Given the description of an element on the screen output the (x, y) to click on. 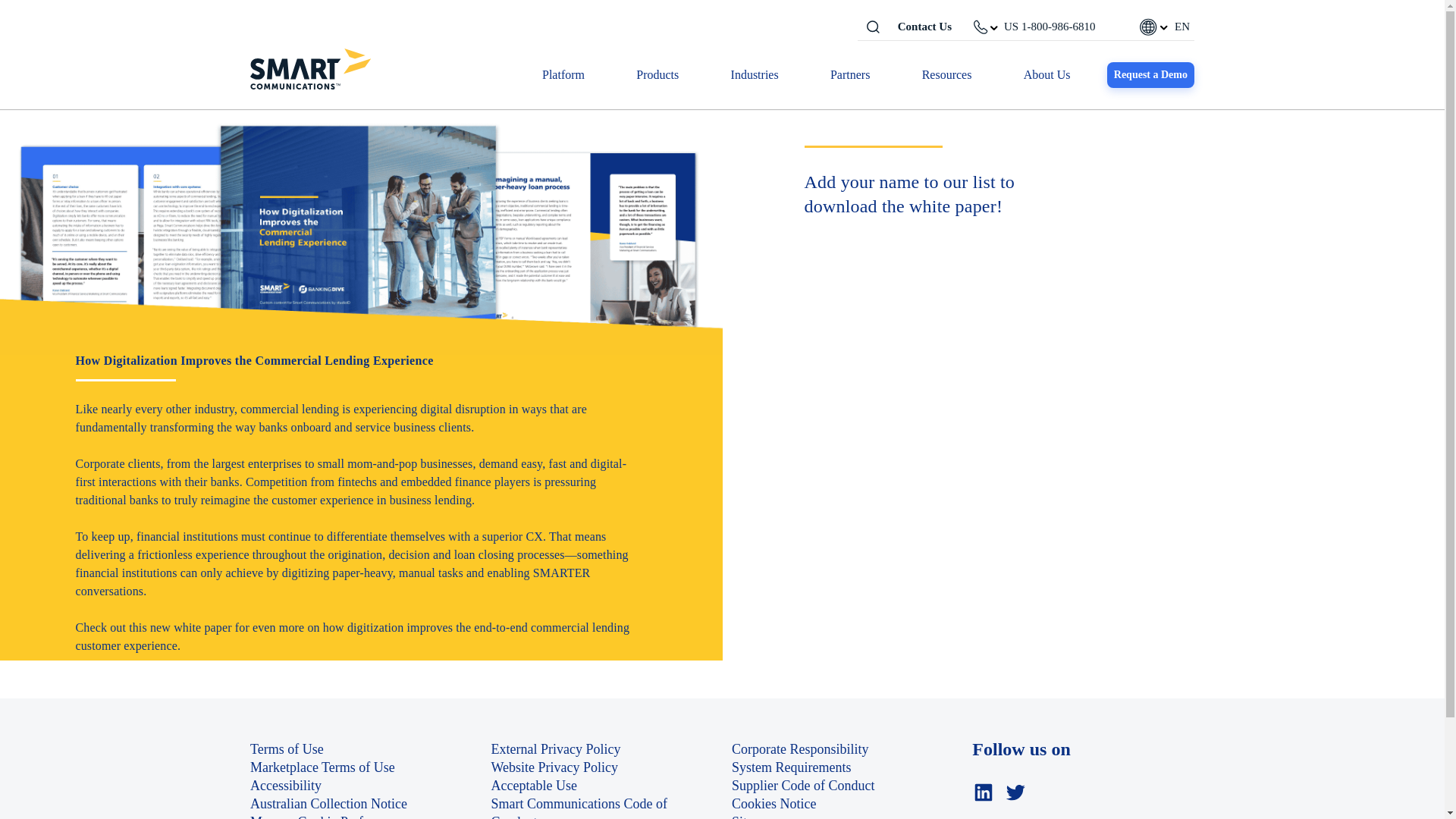
Contact Us (925, 26)
Industries (754, 74)
Products (657, 74)
Platform (563, 74)
Search (872, 25)
US 1-800-986-6810 (1049, 26)
